Given the description of an element on the screen output the (x, y) to click on. 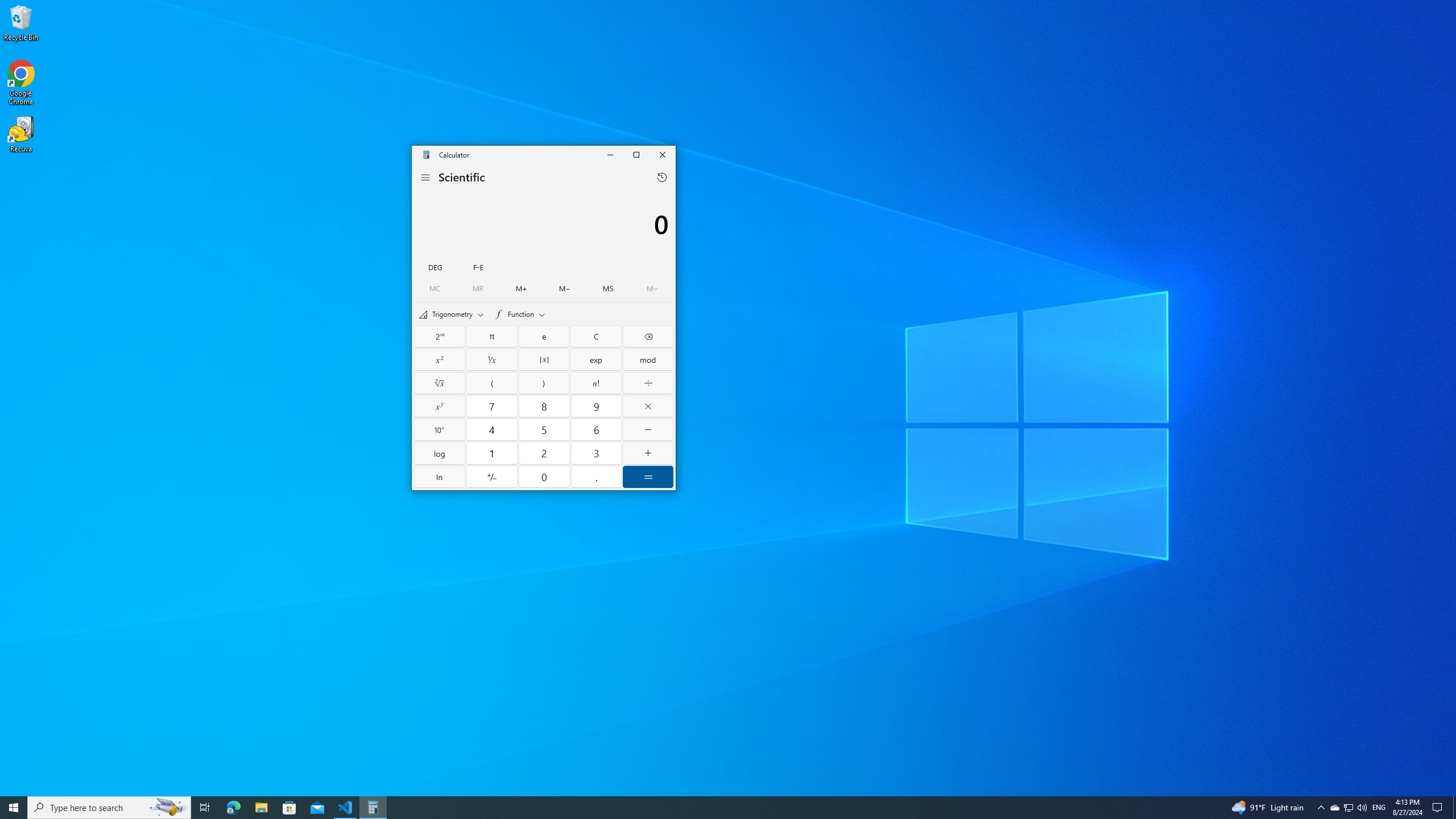
Running applications (706, 807)
Right parenthesis (543, 382)
Trigonometry (451, 313)
Maximize Calculator (636, 154)
Minus (647, 429)
Pi (490, 336)
One (490, 453)
Six (595, 429)
Log (439, 453)
